Given the description of an element on the screen output the (x, y) to click on. 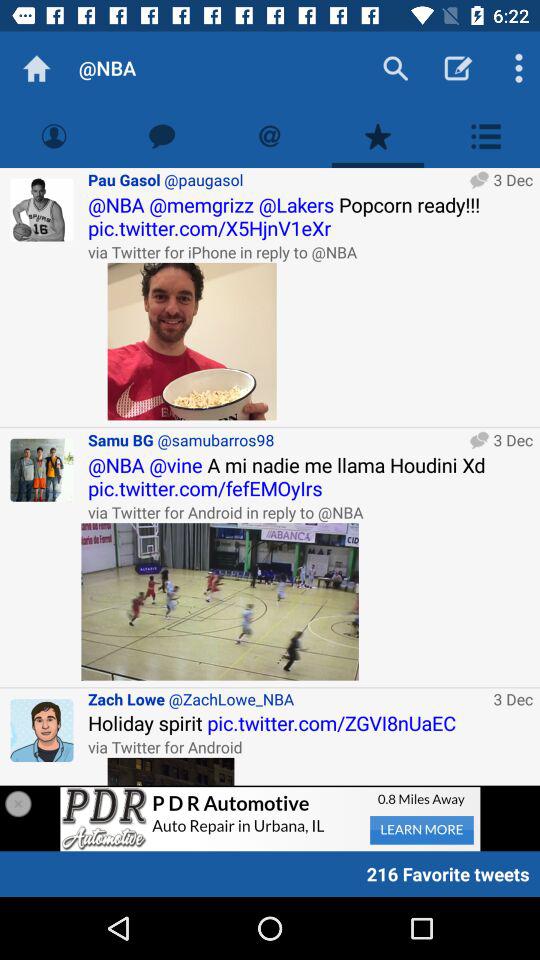
turn off pau gasol @paugasol item (275, 179)
